Given the description of an element on the screen output the (x, y) to click on. 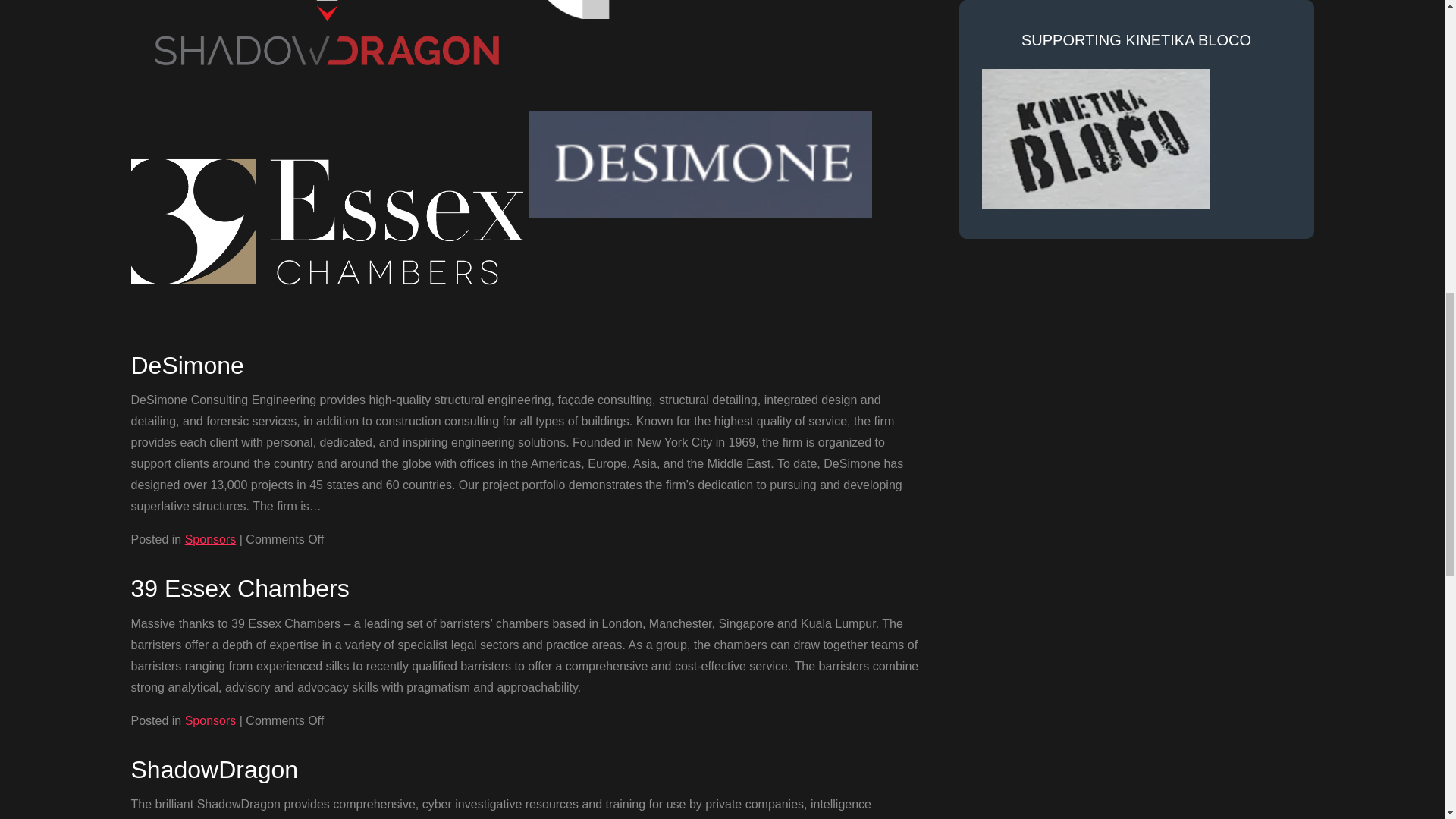
DeSimone (187, 365)
ShadowDragon (214, 768)
Sponsors (209, 720)
39 Essex Chambers (240, 587)
Sponsors (209, 539)
